Given the description of an element on the screen output the (x, y) to click on. 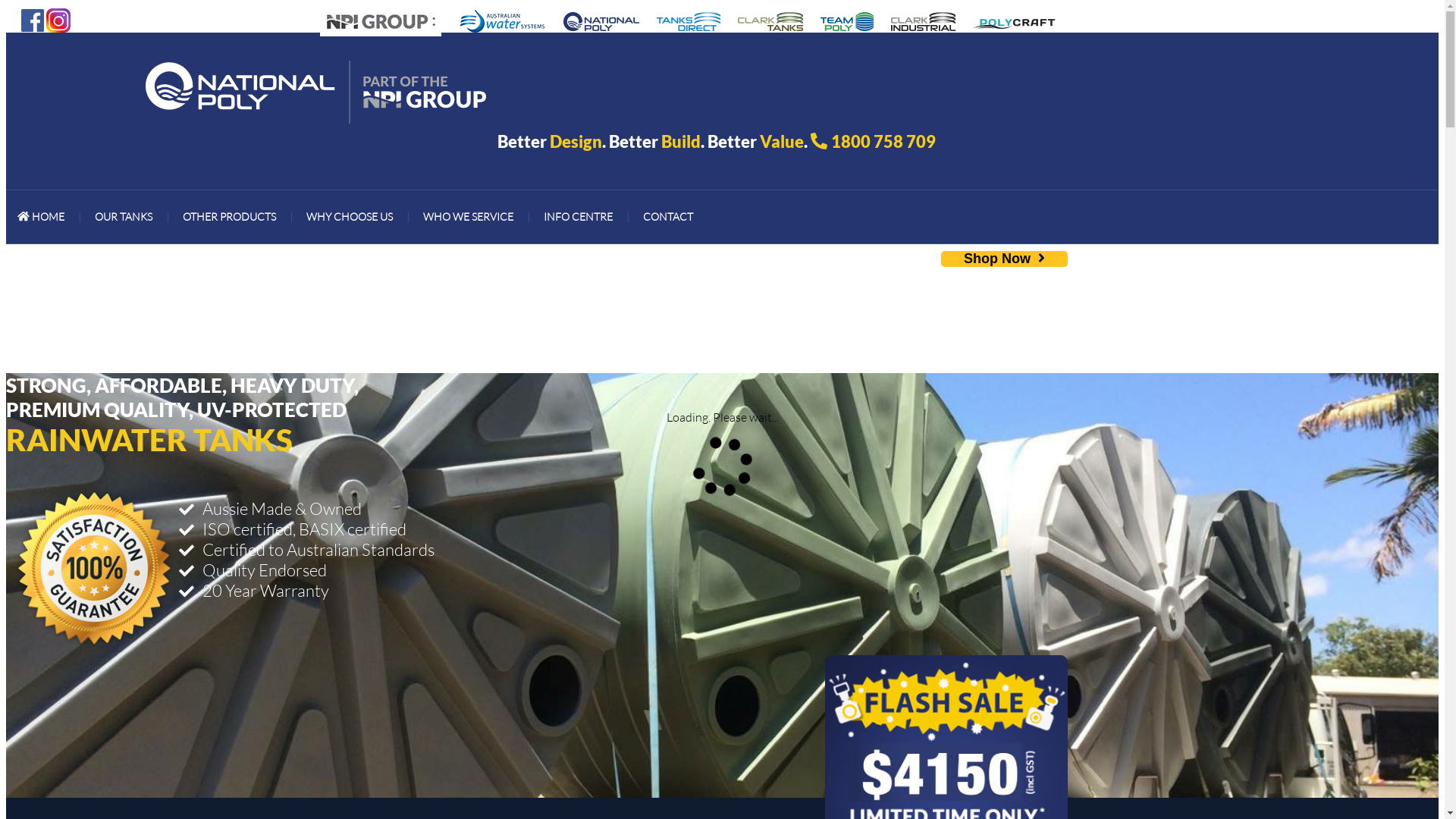
HOME Element type: text (40, 216)
WHO WE SERVICE Element type: text (467, 216)
OTHER PRODUCTS Element type: text (229, 216)
Instagram Element type: hover (58, 18)
Facebook page Element type: hover (32, 18)
WHY CHOOSE US Element type: text (349, 216)
Shop Now Element type: text (1004, 258)
OUR TANKS Element type: text (123, 216)
1800 758 709 Element type: text (883, 141)
CONTACT Element type: text (667, 216)
INFO CENTRE Element type: text (578, 216)
